Given the description of an element on the screen output the (x, y) to click on. 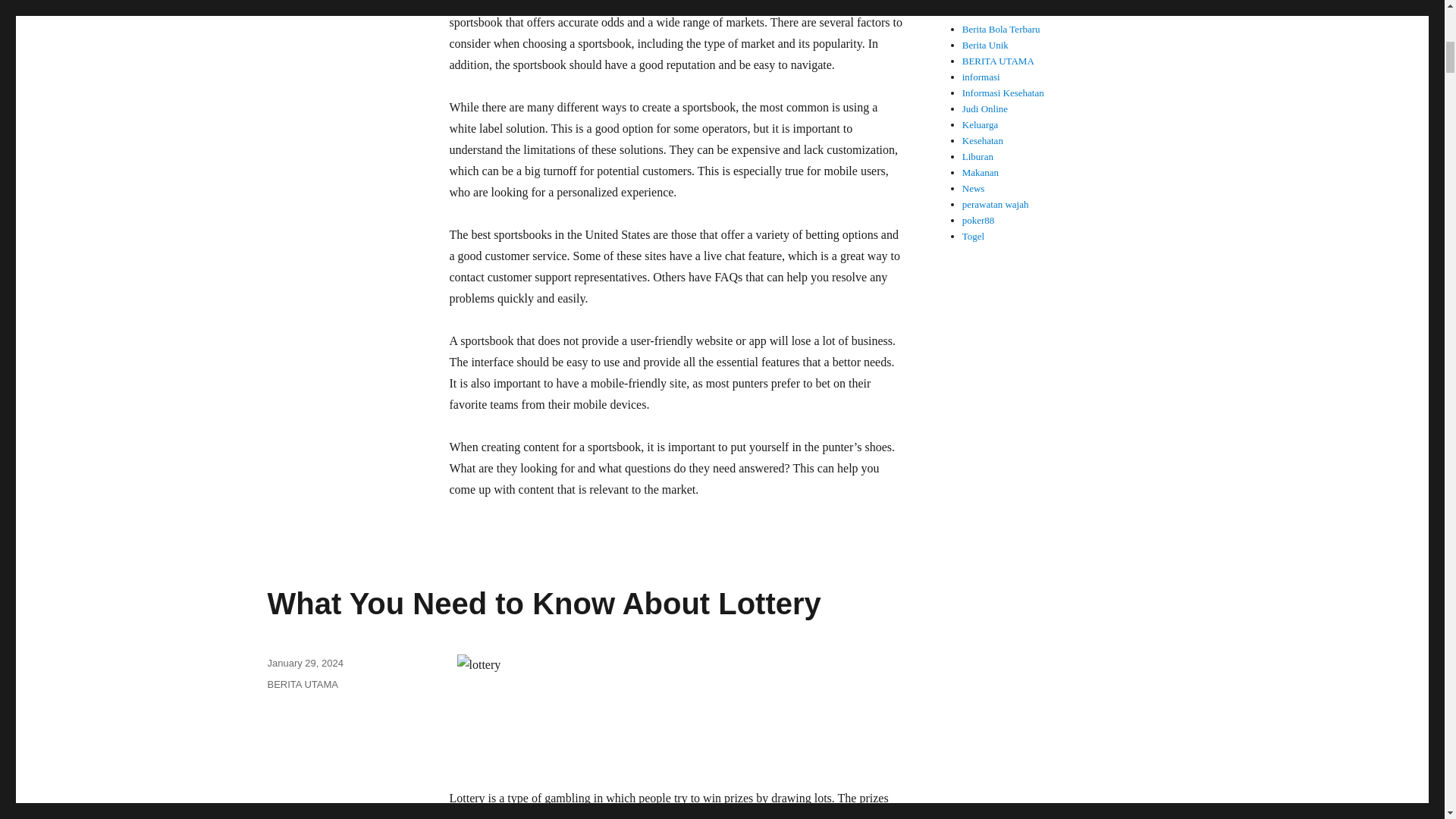
January 29, 2024 (304, 663)
BERITA UTAMA (301, 684)
What You Need to Know About Lottery (543, 603)
